Given the description of an element on the screen output the (x, y) to click on. 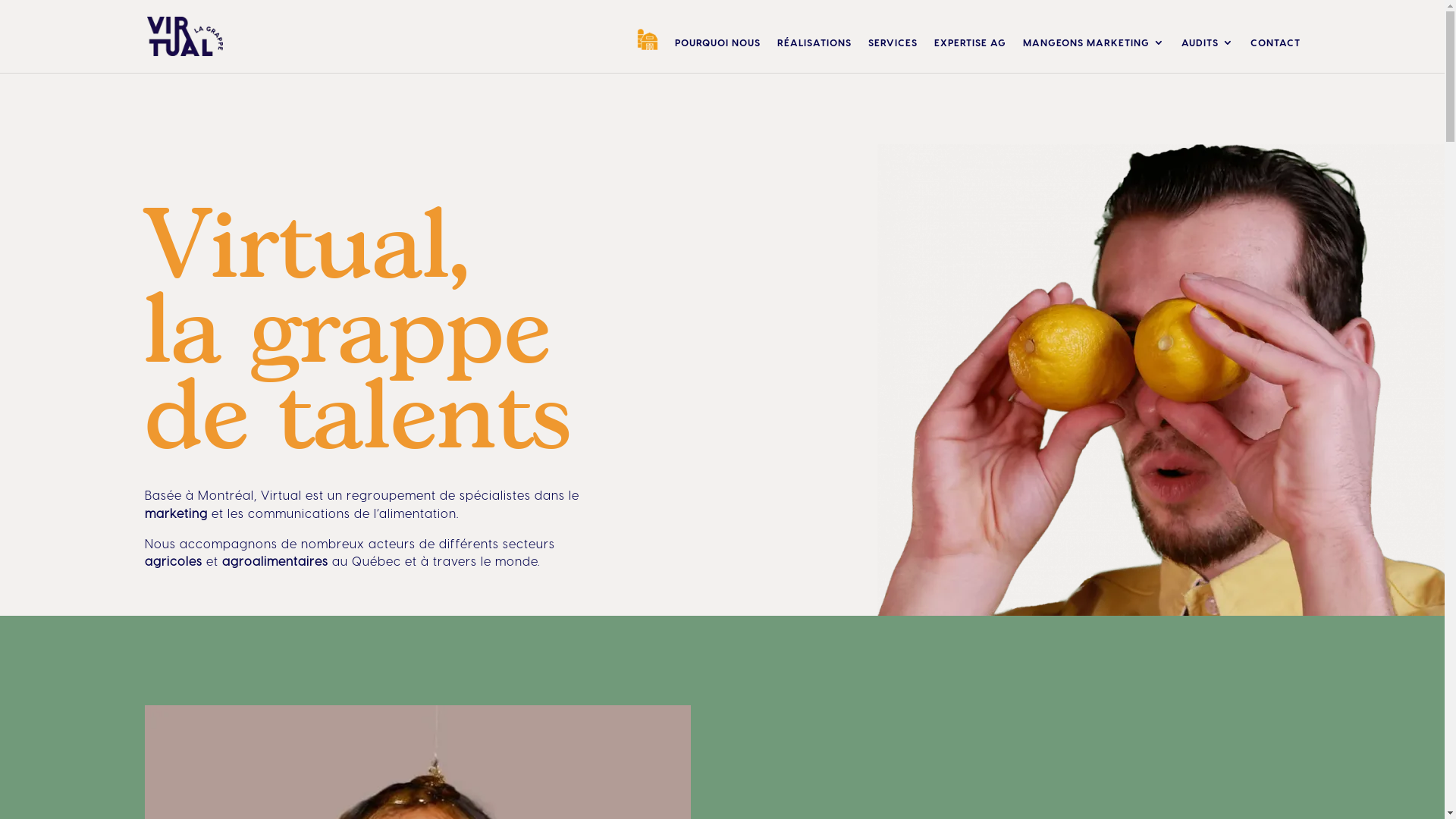
MANGEONS MARKETING Element type: text (1093, 54)
CONTACT Element type: text (1274, 54)
AUDITS Element type: text (1207, 54)
EXPERTISE AG Element type: text (970, 54)
POURQUOI NOUS Element type: text (717, 54)
SERVICES Element type: text (891, 54)
